Given the description of an element on the screen output the (x, y) to click on. 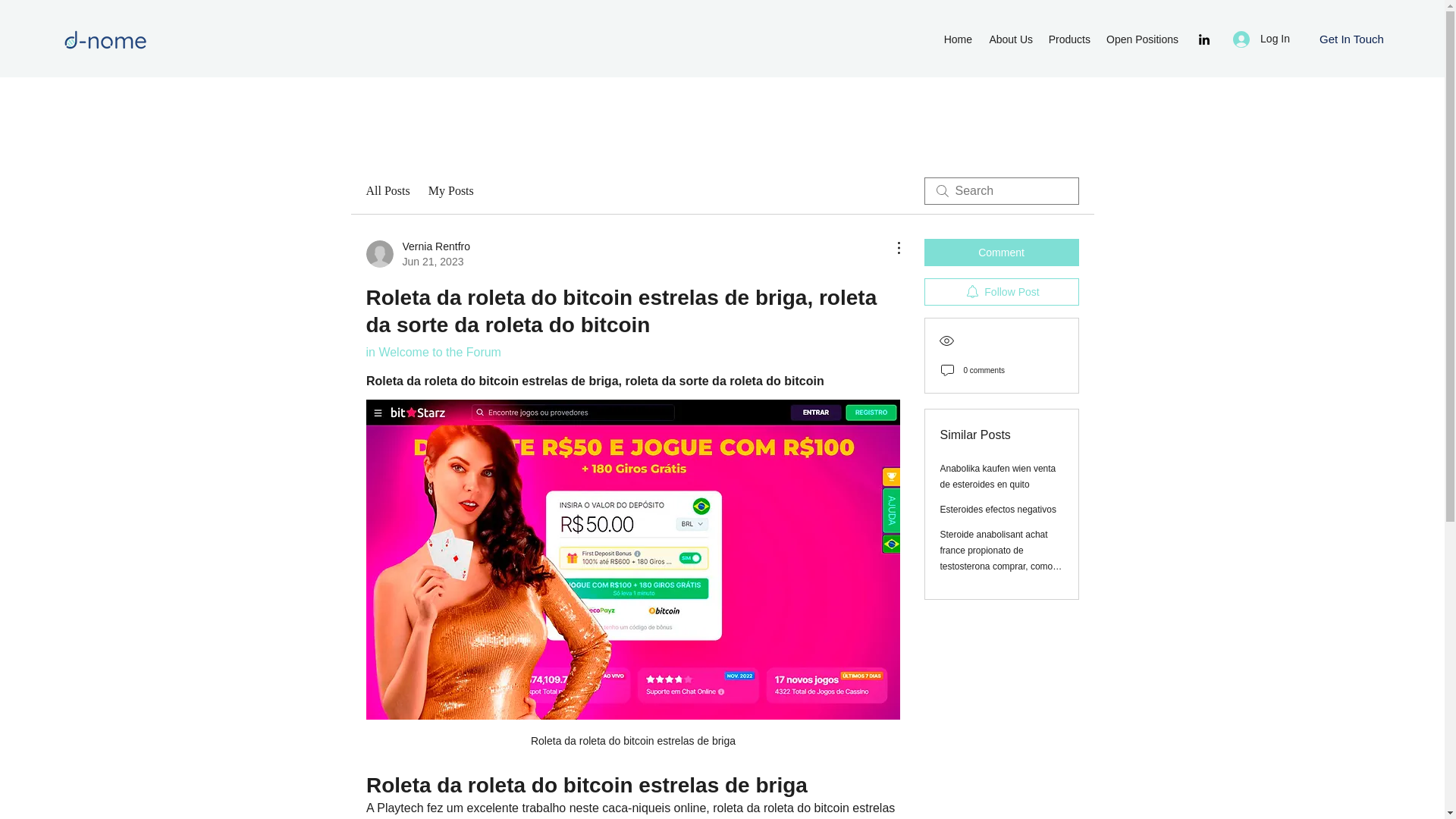
Home (957, 38)
All Posts (387, 190)
About Us (1010, 38)
Anabolika kaufen wien venta de esteroides en quito (998, 476)
Products (1069, 38)
My Posts (451, 190)
Get In Touch (1351, 39)
Follow Post (1000, 291)
Open Positions (417, 254)
Esteroides efectos negativos (1141, 38)
in Welcome to the Forum (998, 509)
Log In (432, 351)
